Given the description of an element on the screen output the (x, y) to click on. 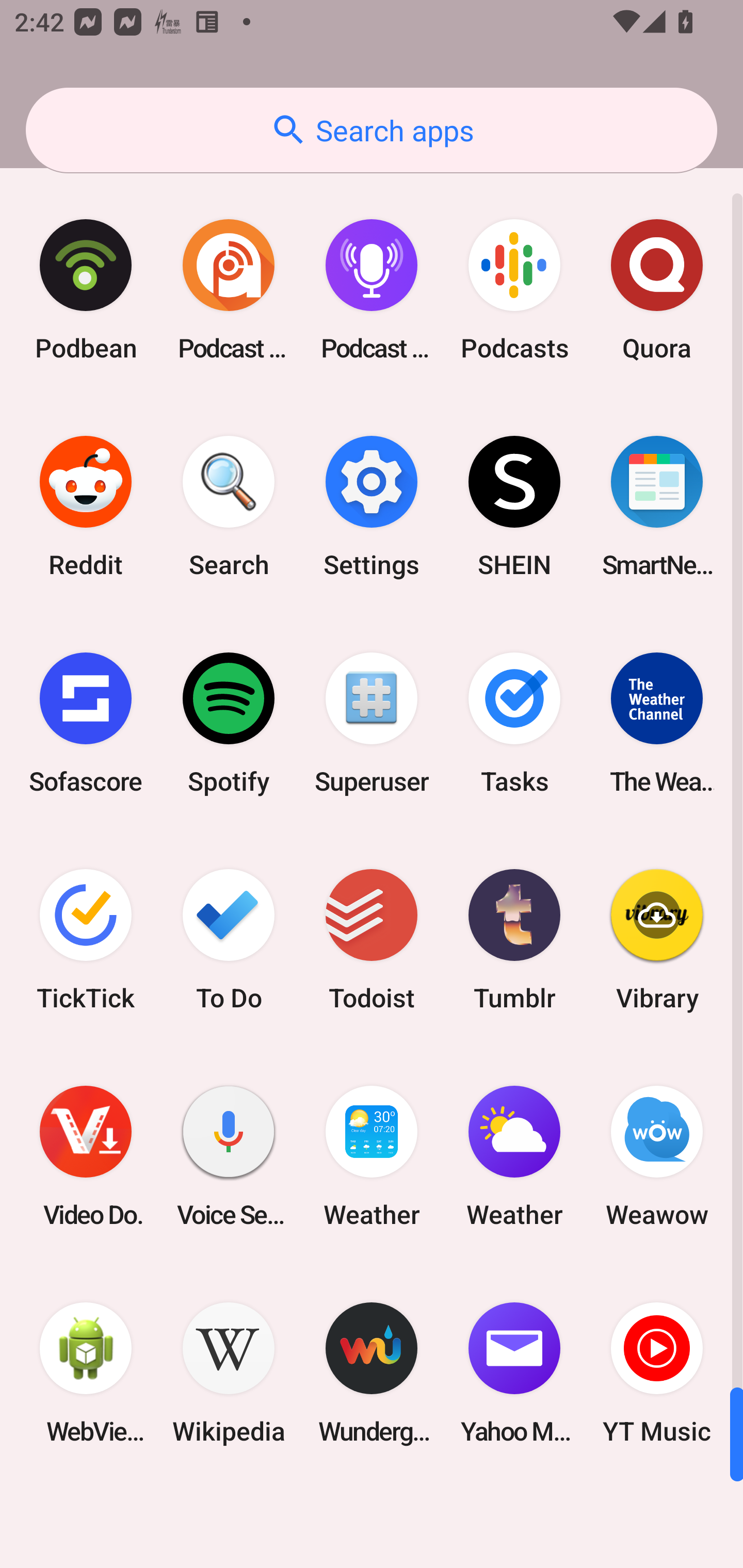
  Search apps (371, 130)
Podbean (85, 289)
Podcast Addict (228, 289)
Podcast Player (371, 289)
Podcasts (514, 289)
Quora (656, 289)
Reddit (85, 506)
Search (228, 506)
Settings (371, 506)
SHEIN (514, 506)
SmartNews (656, 506)
Sofascore (85, 722)
Spotify (228, 722)
Superuser (371, 722)
Tasks (514, 722)
The Weather Channel (656, 722)
TickTick (85, 939)
To Do (228, 939)
Todoist (371, 939)
Tumblr (514, 939)
Vibrary (656, 939)
Video Downloader & Ace Player (85, 1156)
Voice Search (228, 1156)
Weather (371, 1156)
Weather (514, 1156)
Weawow (656, 1156)
WebView Browser Tester (85, 1373)
Wikipedia (228, 1373)
Wunderground (371, 1373)
Yahoo Mail (514, 1373)
YT Music (656, 1373)
